Given the description of an element on the screen output the (x, y) to click on. 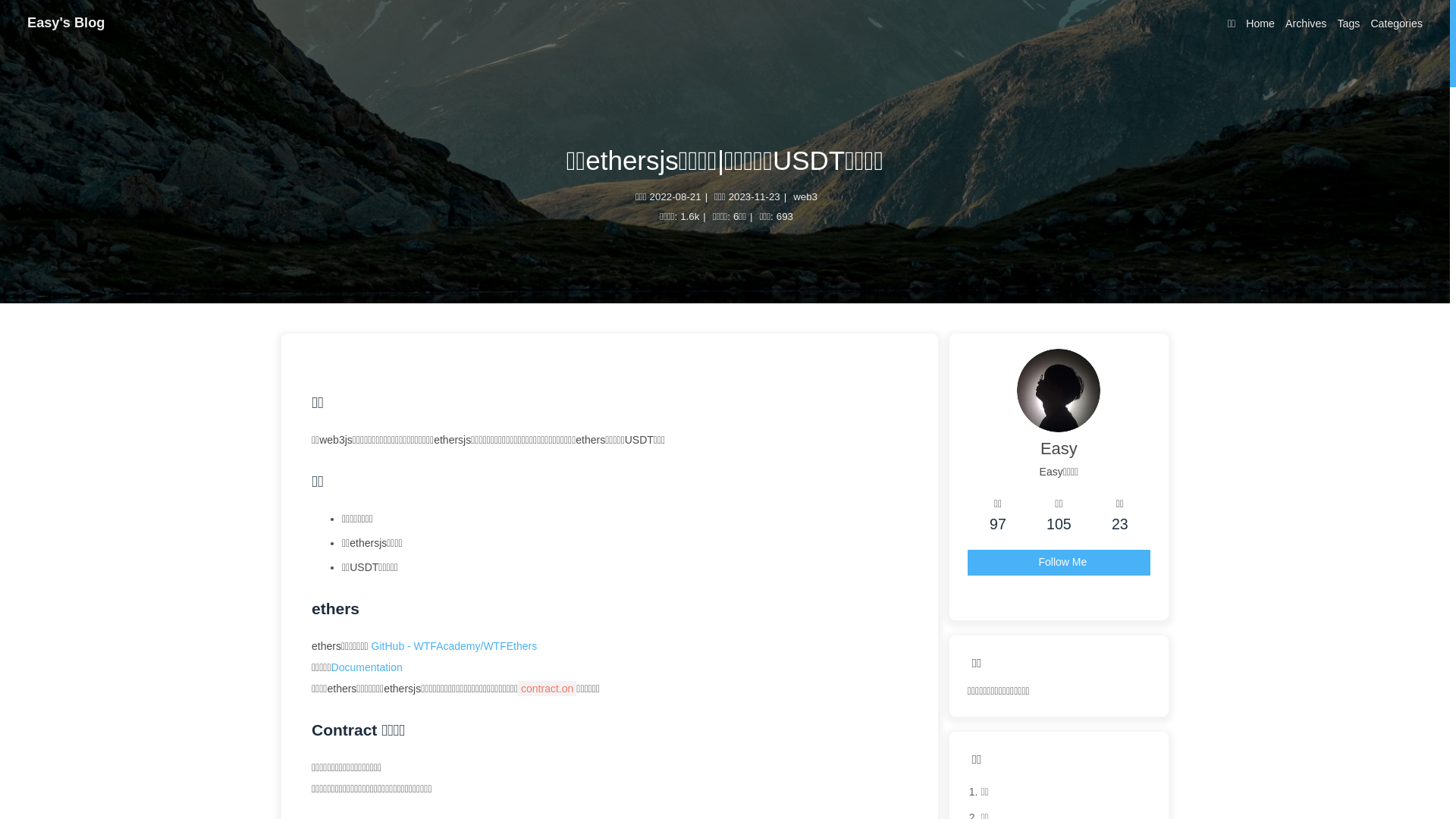
Archives Element type: text (1305, 25)
Documentation Element type: text (366, 667)
Categories Element type: text (1396, 25)
Home Element type: text (1259, 25)
Tags Element type: text (1347, 25)
Follow Me Element type: text (1058, 562)
GitHub - WTFAcademy/WTFEthers Element type: text (454, 646)
Easy's Blog Element type: text (65, 22)
web3 Element type: text (805, 196)
